Given the description of an element on the screen output the (x, y) to click on. 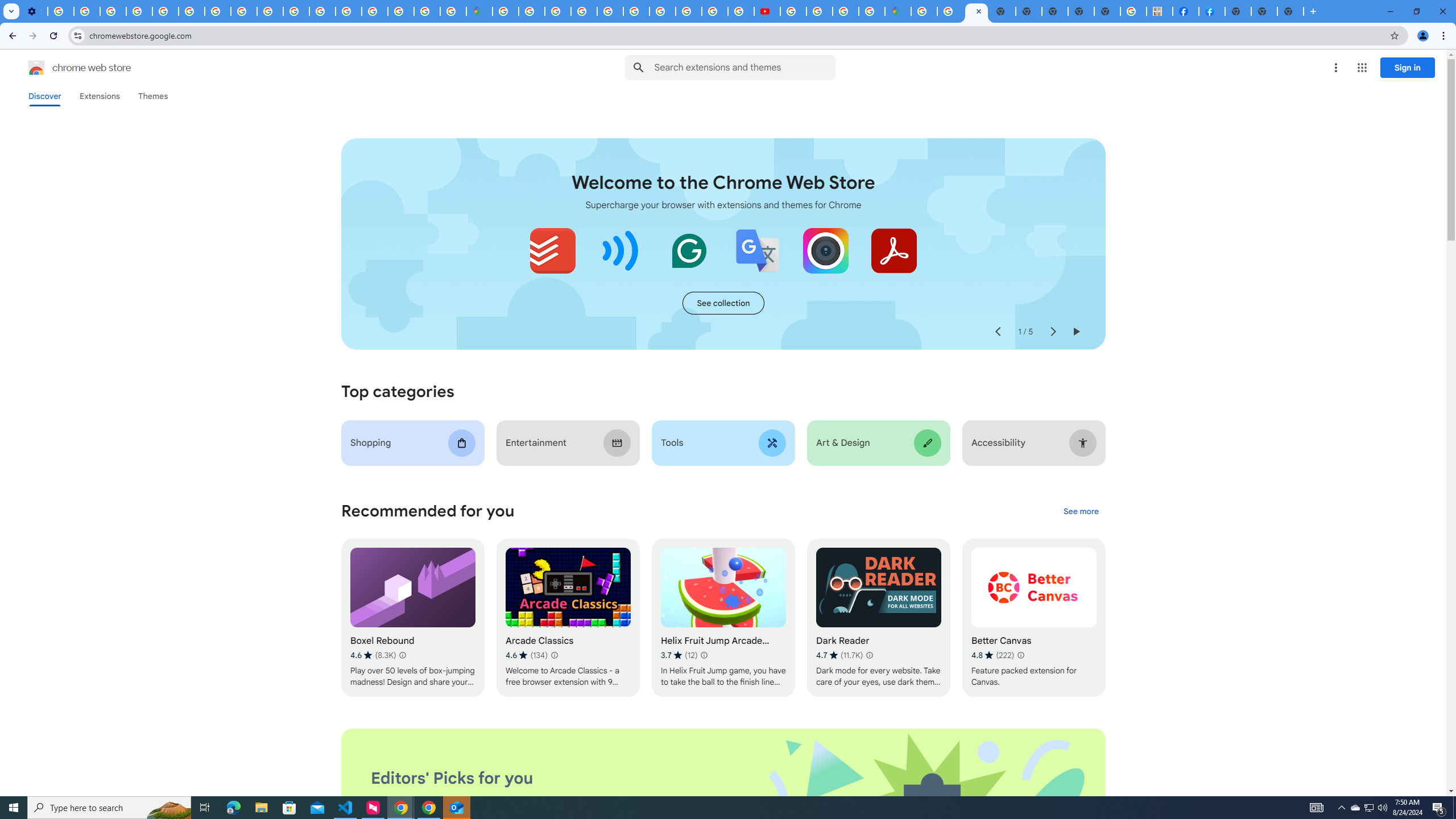
YouTube (191, 11)
Settings - Customize profile (34, 11)
Discover (43, 95)
Sign in - Google Accounts (531, 11)
Shopping (412, 443)
Boxel Rebound (412, 617)
Learn more about results and reviews "Dark Reader" (869, 655)
See more of the "Extensions starter kit" collection (722, 303)
Learn how to find your photos - Google Photos Help (86, 11)
Resume auto-play (1075, 331)
